Given the description of an element on the screen output the (x, y) to click on. 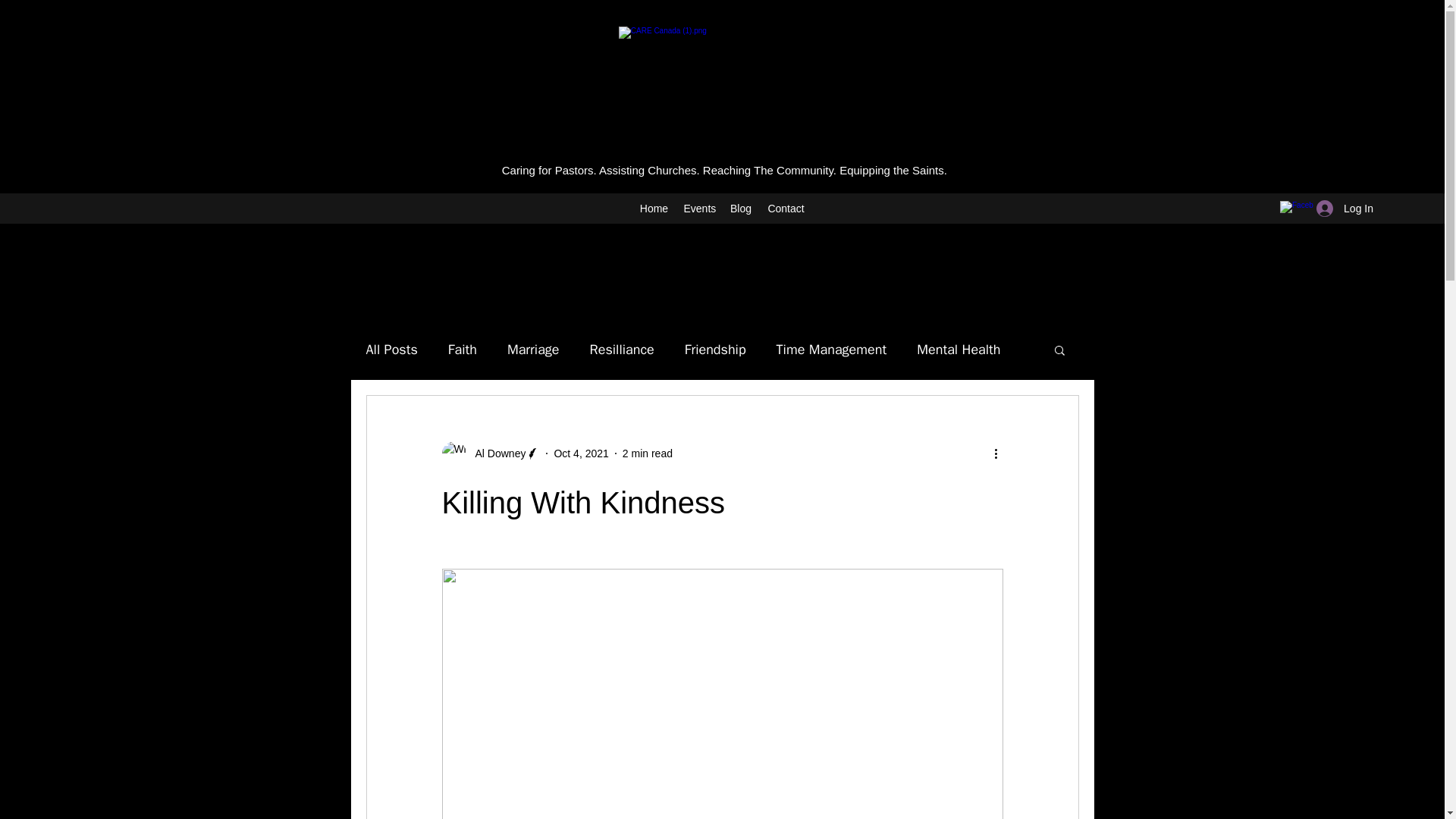
Time Management (831, 349)
Home (654, 208)
All Posts (390, 349)
Blog (740, 208)
Contact (786, 208)
Marriage (532, 349)
Log In (1345, 208)
Friendship (714, 349)
Al Downey (490, 453)
Resilliance (621, 349)
2 min read (647, 453)
Mental Health (958, 349)
Oct 4, 2021 (580, 453)
Al Downey (495, 453)
Events (699, 208)
